Given the description of an element on the screen output the (x, y) to click on. 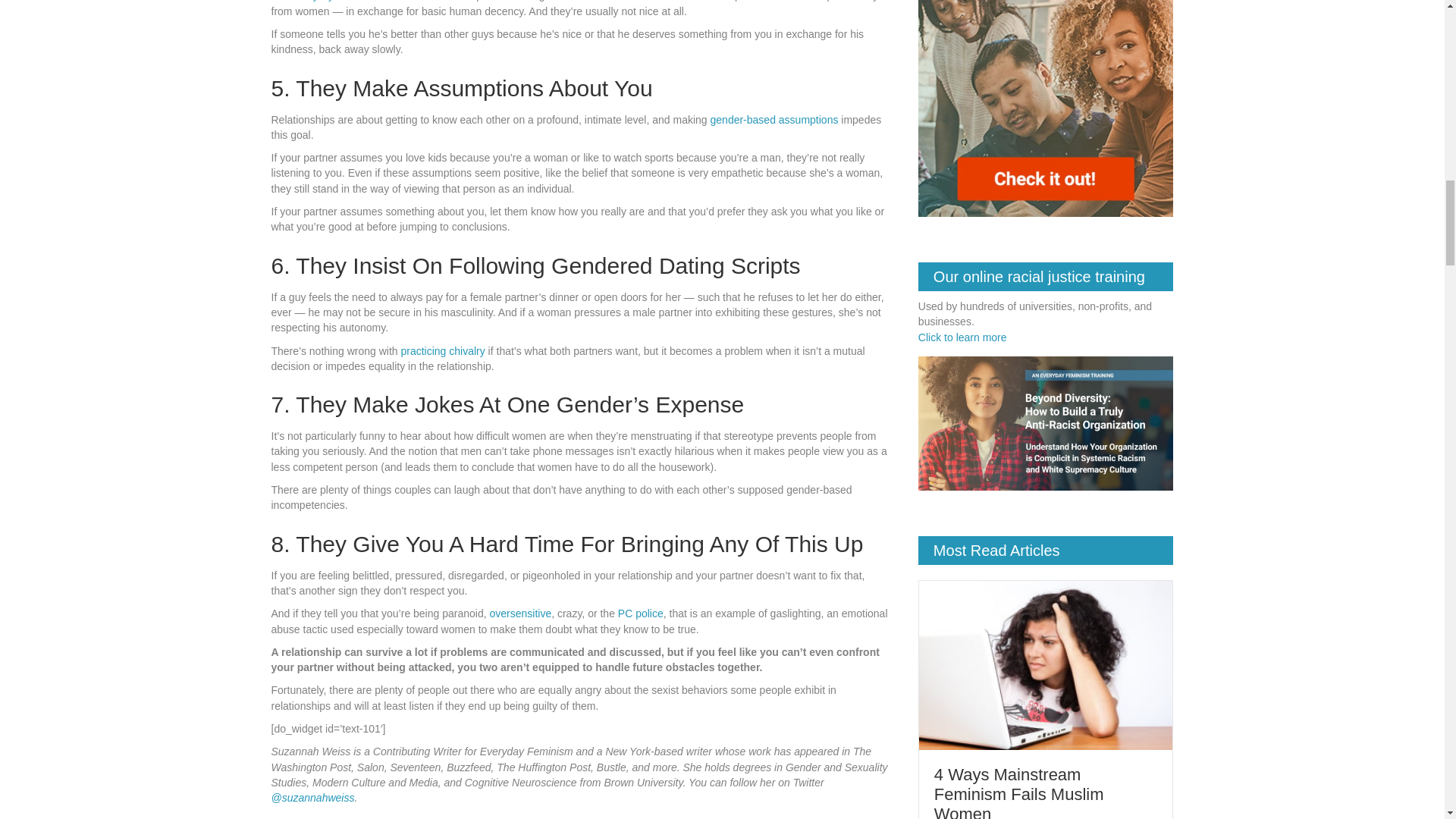
4 Ways Mainstream Feminism Fails Muslim Women (1018, 791)
gender-based assumptions (774, 119)
Nice Guy Syndrome (322, 0)
oversensitive (520, 613)
4 Ways Mainstream Feminism Fails Muslim Women (1045, 664)
PC police (640, 613)
practicing chivalry (442, 350)
